Given the description of an element on the screen output the (x, y) to click on. 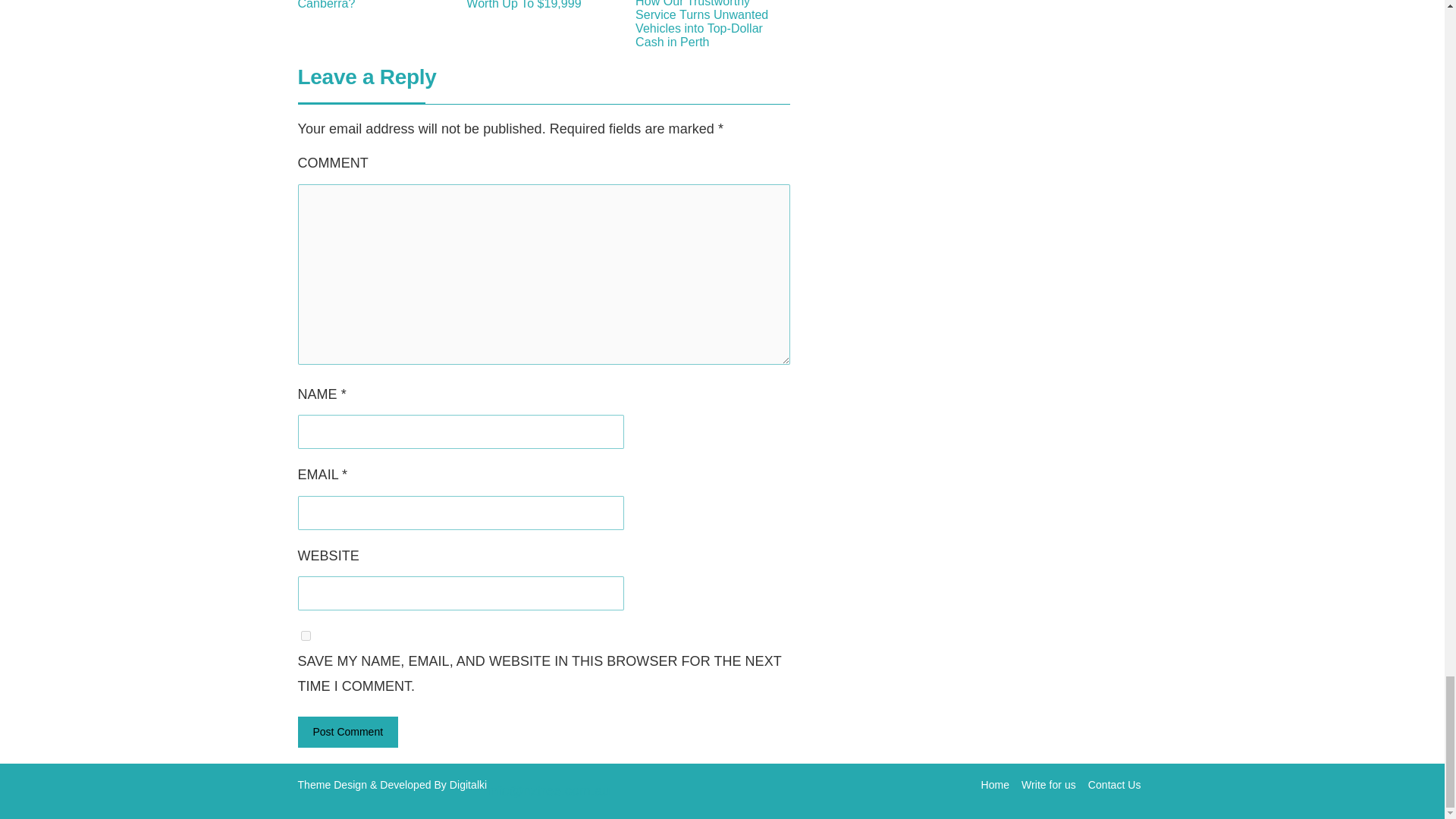
Post Comment (347, 731)
yes (304, 635)
Where Can You Find Top Cash For Scrap Cars in Canberra? (374, 5)
